Given the description of an element on the screen output the (x, y) to click on. 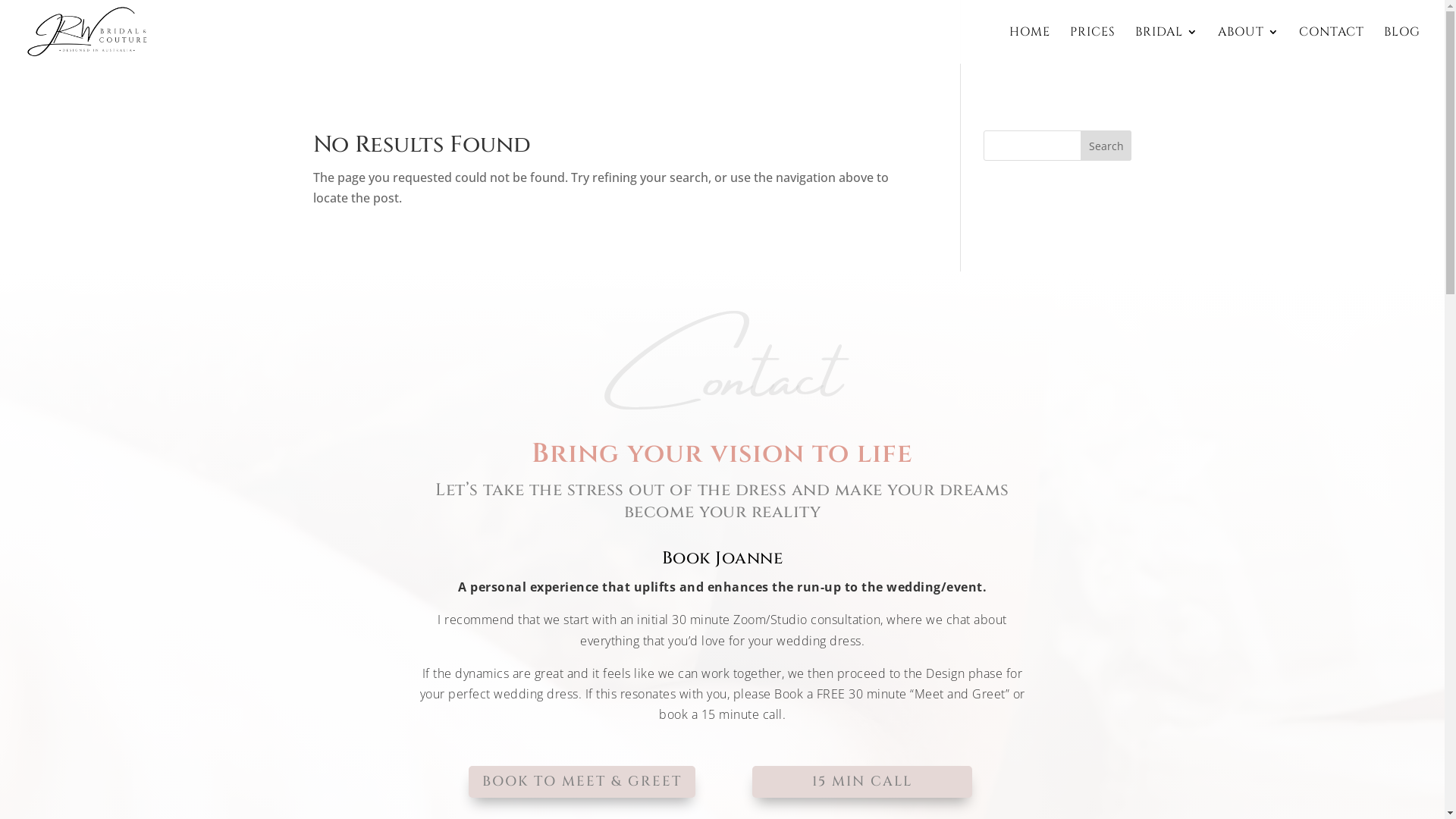
Search Element type: text (1106, 145)
ABOUT Element type: text (1248, 44)
BOOK TO MEET & GREET Element type: text (581, 781)
BRIDAL Element type: text (1166, 44)
PRICES Element type: text (1092, 44)
HOME Element type: text (1029, 44)
15 MIN CALL Element type: text (862, 781)
BLOG Element type: text (1401, 44)
CONTACT Element type: text (1331, 44)
